Given the description of an element on the screen output the (x, y) to click on. 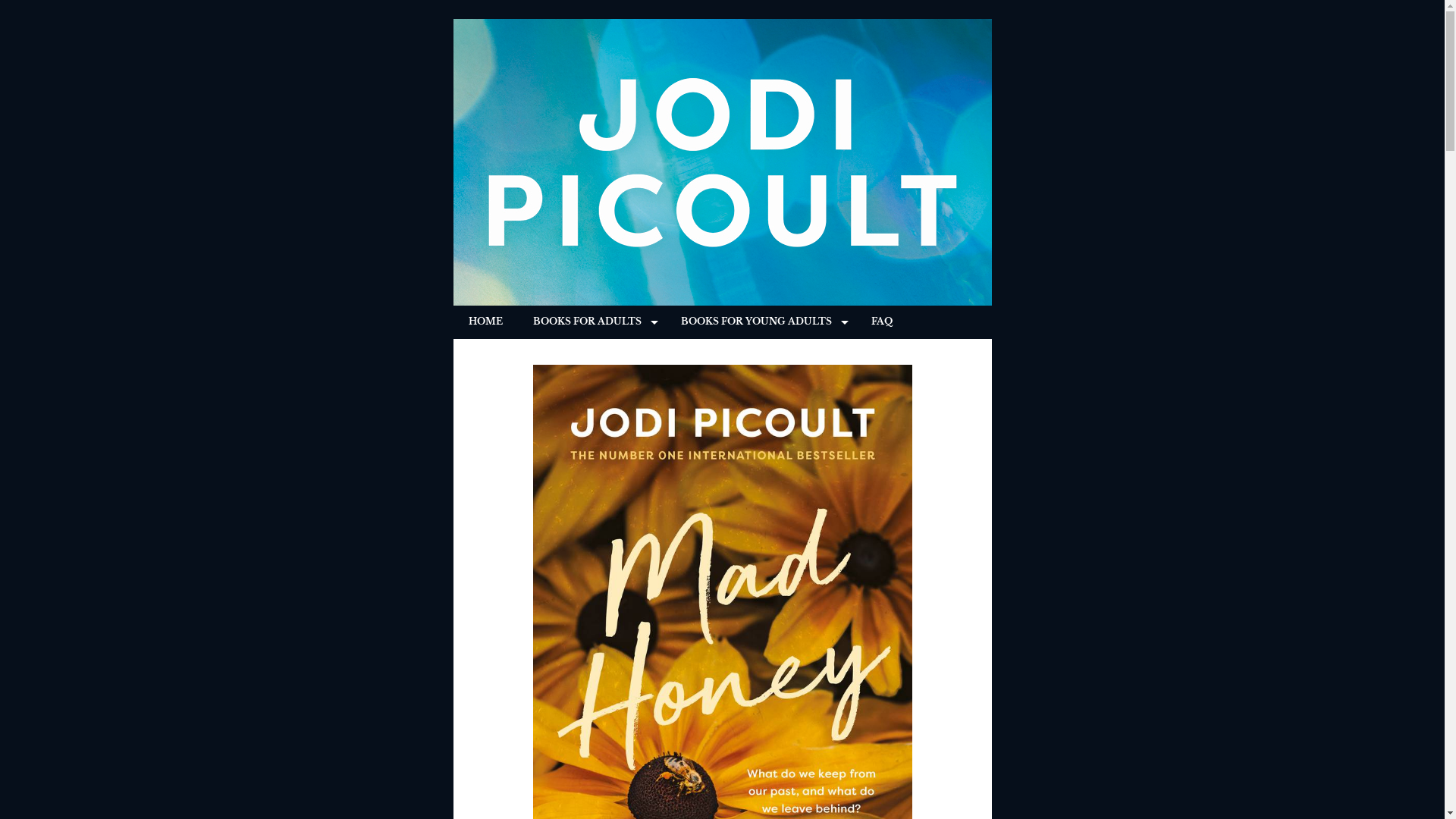
BOOKS FOR ADULTS Element type: text (591, 321)
BOOKS FOR YOUNG ADULTS Element type: text (760, 321)
HOME Element type: text (485, 321)
FAQ Element type: text (880, 321)
